Given the description of an element on the screen output the (x, y) to click on. 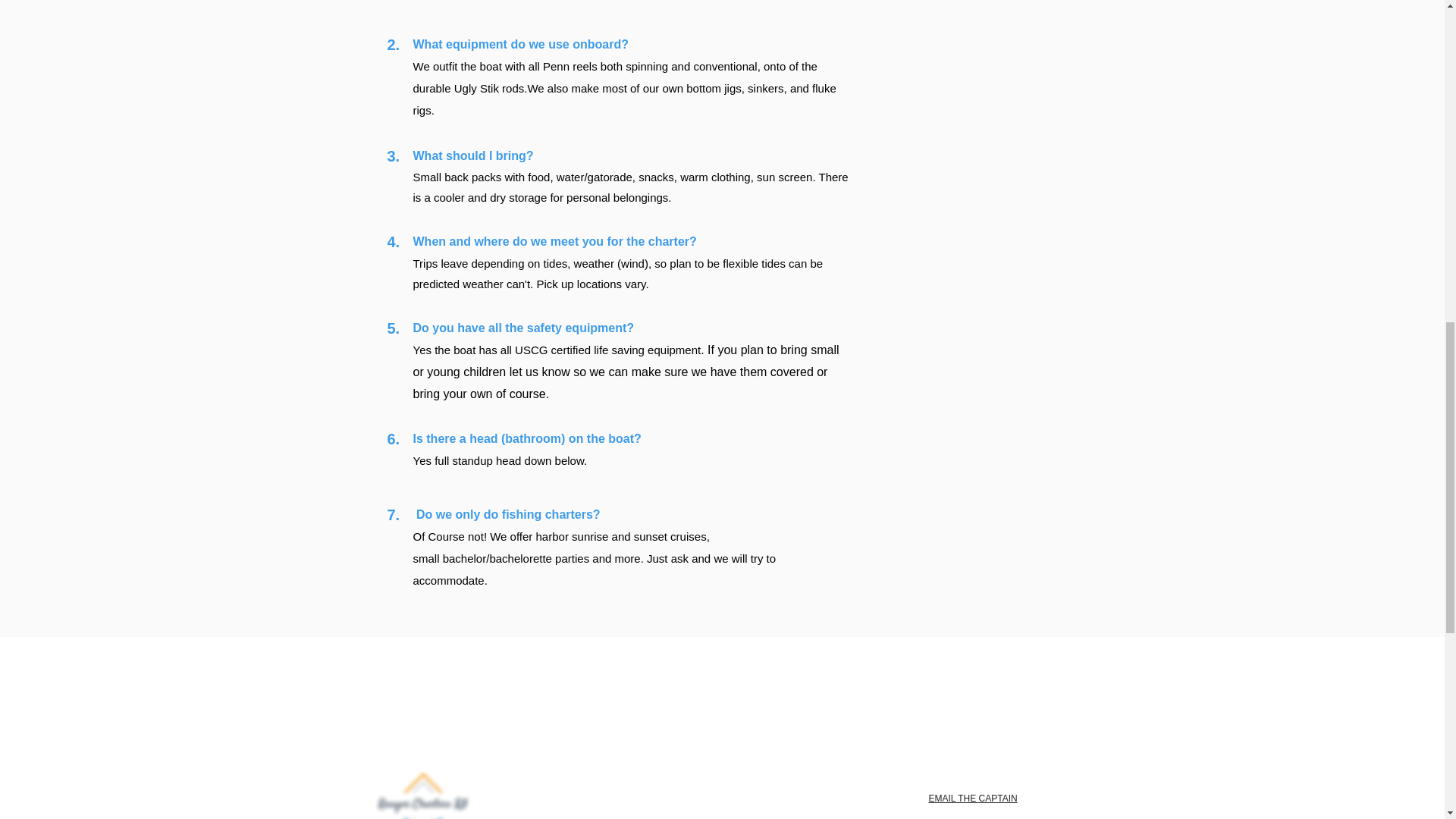
EMAIL THE CAPTAIN (972, 798)
